Given the description of an element on the screen output the (x, y) to click on. 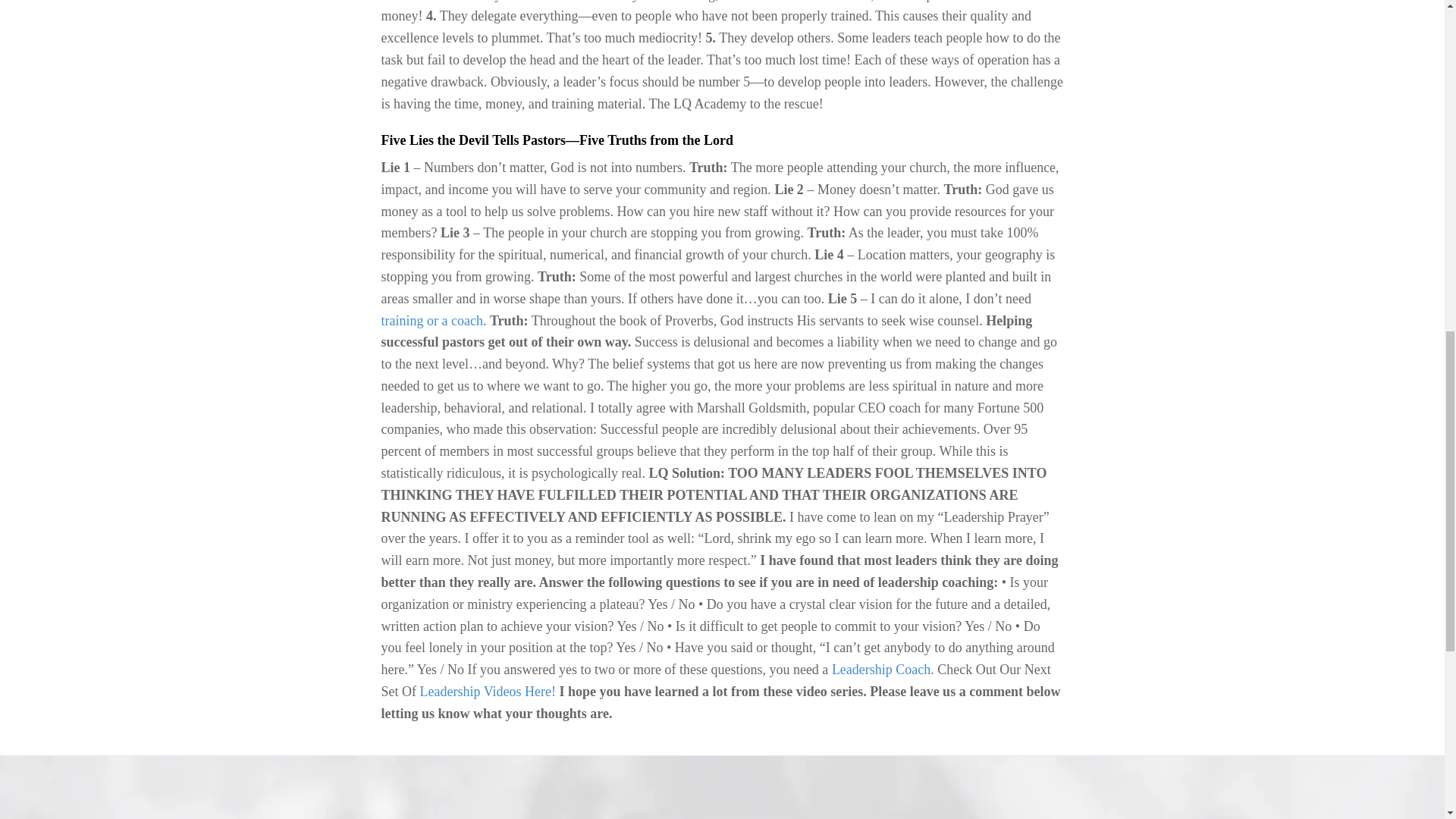
training or a coach (430, 319)
Leadership Videos Here! (488, 691)
training or a coach (430, 319)
Leadership Videos Here! (488, 691)
Leadership Coach (880, 669)
